Given the description of an element on the screen output the (x, y) to click on. 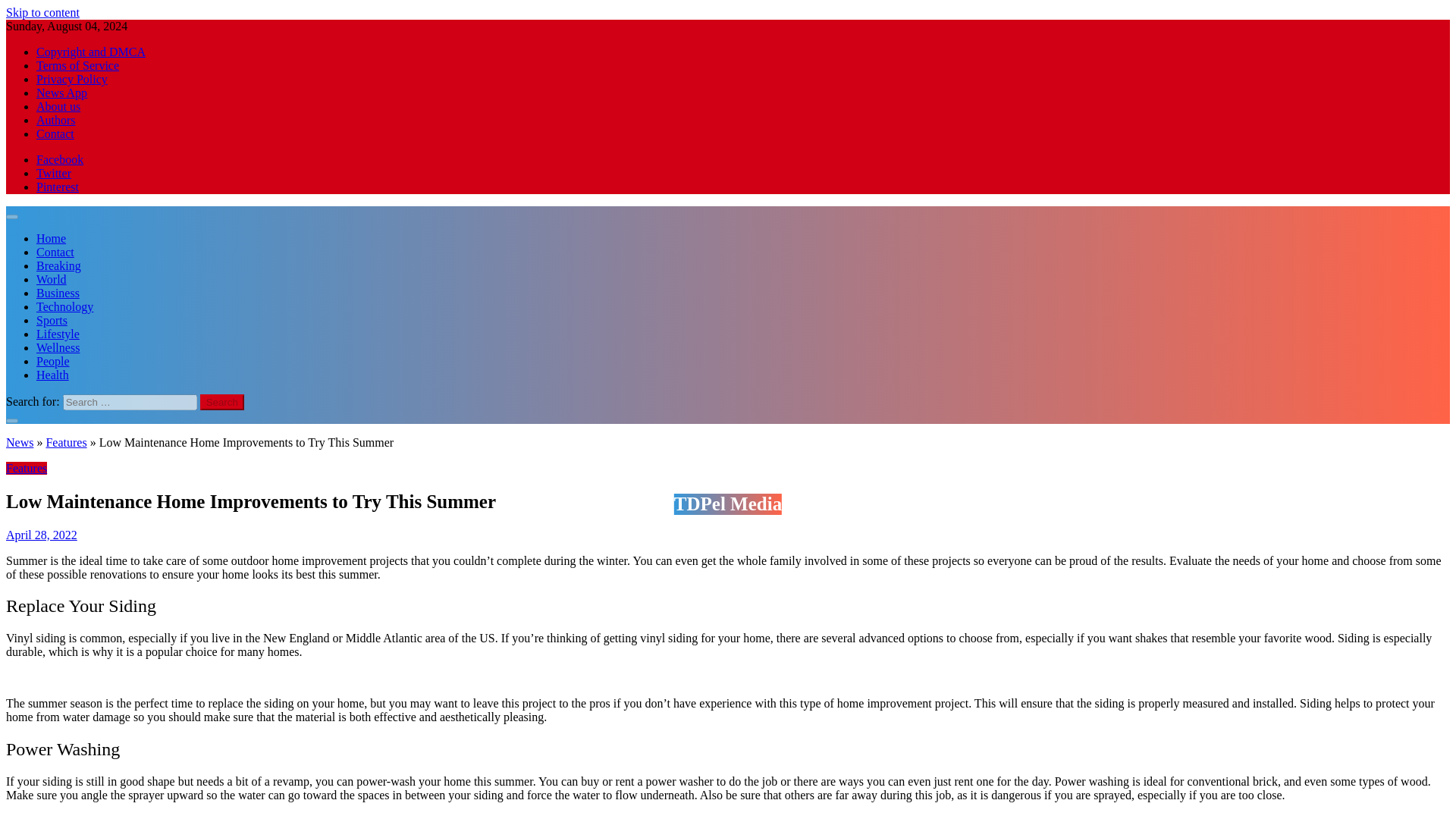
Contact (55, 251)
Technology (64, 306)
Pinterest (57, 186)
Terms of Service (77, 65)
Home (50, 237)
Authors (55, 119)
Search (222, 401)
Search (222, 401)
Breaking (58, 265)
Skip to content (42, 11)
Privacy Policy (71, 78)
Health (52, 374)
News App (61, 92)
Lifestyle (58, 333)
Business (58, 292)
